Given the description of an element on the screen output the (x, y) to click on. 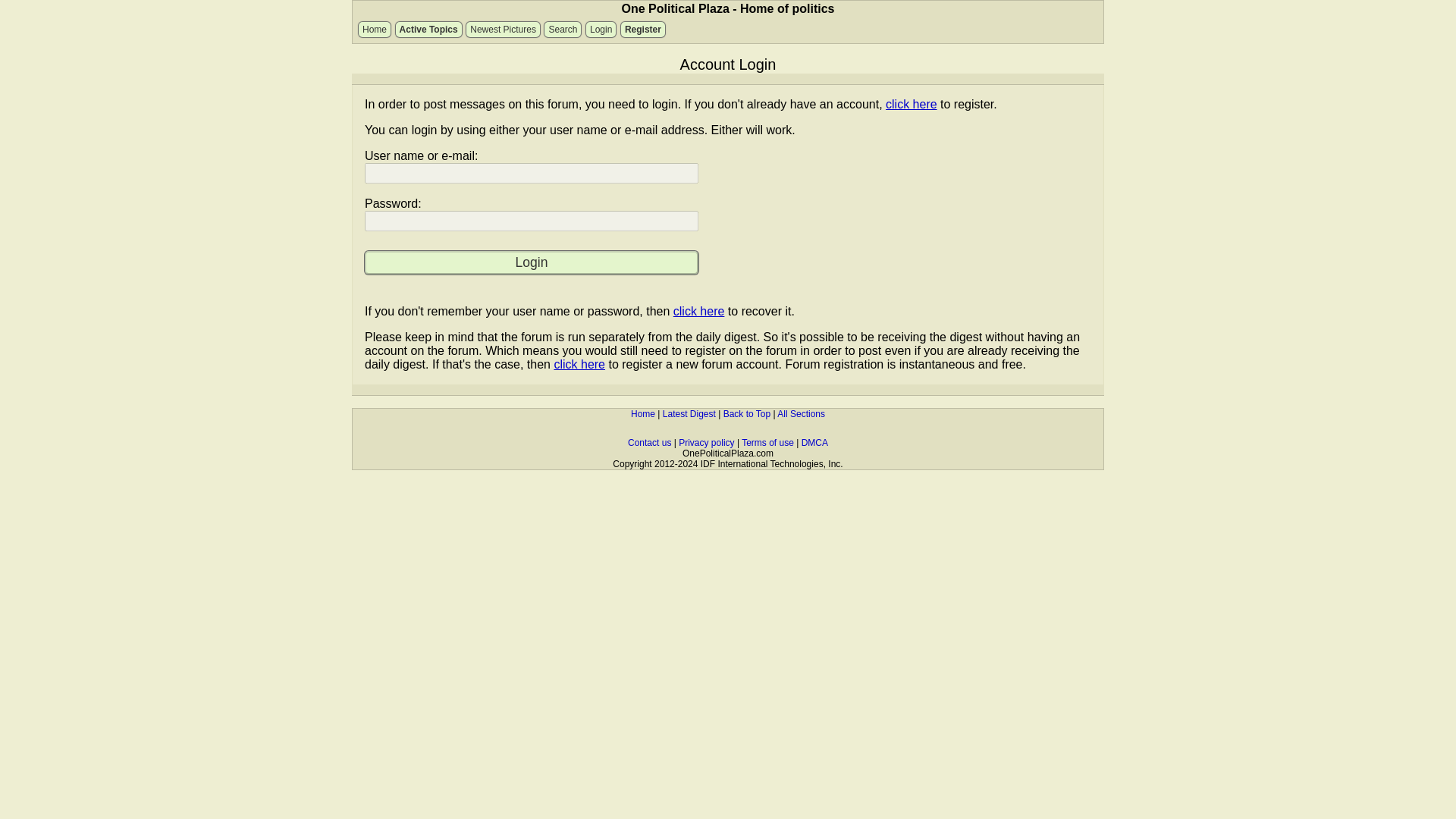
Actively discussed topics in the past 24 hours (428, 29)
Contact us (649, 442)
Login (600, 29)
Home (642, 413)
Privacy policy (705, 442)
Register (643, 29)
Login (531, 262)
click here (579, 364)
Home (374, 29)
Terms of use (767, 442)
Latest Digest (689, 413)
All Sections (801, 413)
click here (911, 103)
DMCA (815, 442)
click here (698, 310)
